Given the description of an element on the screen output the (x, y) to click on. 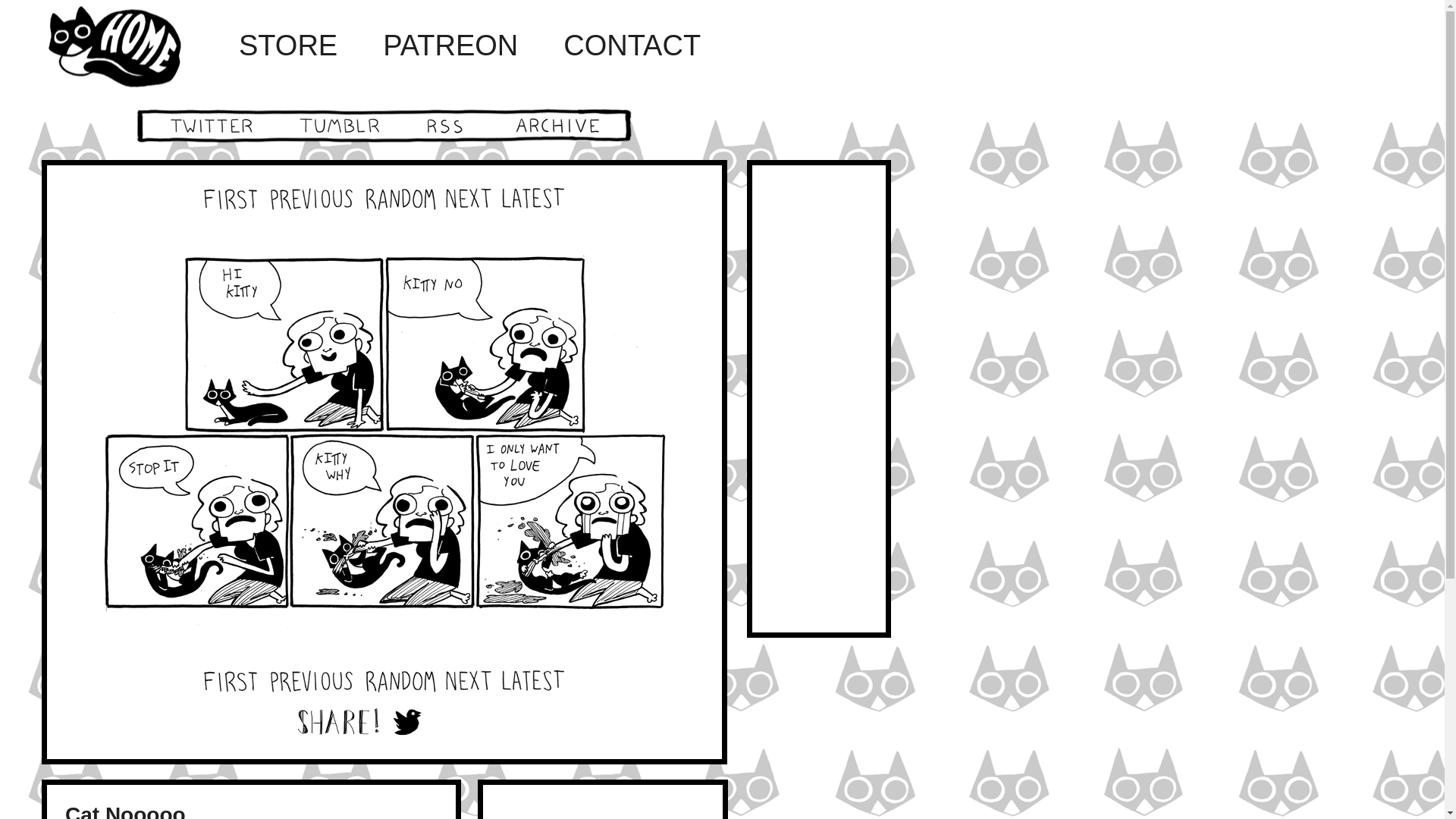
Cat Nooooo (125, 811)
CONTACT (631, 45)
PATREON (450, 45)
STORE (287, 45)
